Given the description of an element on the screen output the (x, y) to click on. 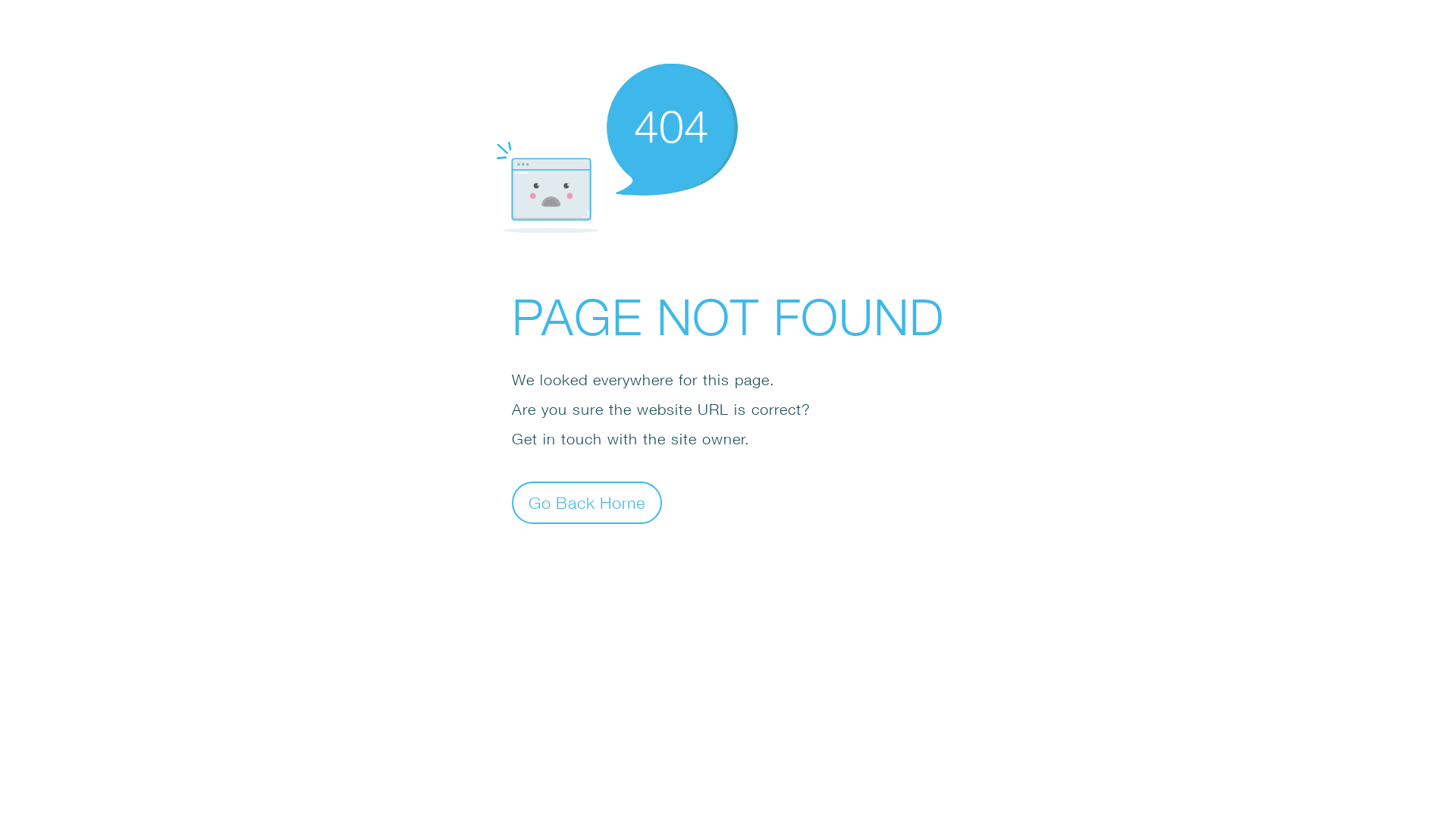
Go Back Home Element type: text (586, 502)
